Given the description of an element on the screen output the (x, y) to click on. 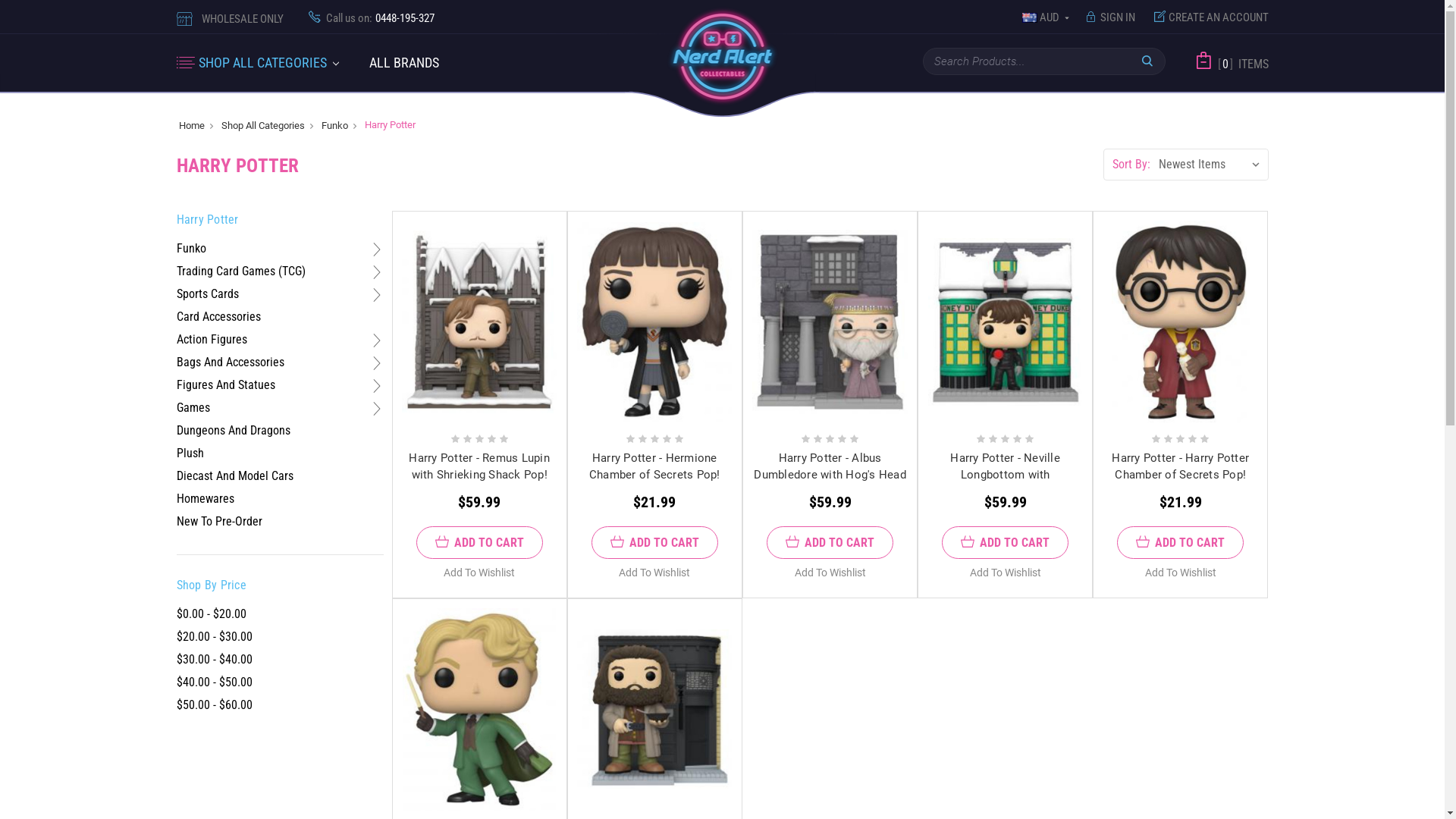
Diecast And Model Cars Element type: text (233, 475)
ALL BRANDS Element type: text (404, 63)
Homewares Element type: text (204, 498)
Figures And Statues Element type: text (224, 384)
$0.00 - $20.00 Element type: text (279, 613)
Add To Wishlist Element type: text (478, 572)
SHOP ALL CATEGORIES Element type: text (276, 63)
$50.00 - $60.00 Element type: text (279, 704)
Harry Potter - Harry Potter Chamber of Secrets Pop! Vinyl Element type: text (1179, 474)
Action Figures Element type: text (210, 339)
WHOLESALE ONLY Element type: text (242, 18)
$30.00 - $40.00 Element type: text (279, 659)
Dungeons And Dragons Element type: text (232, 430)
Harry Potter - Hermione Chamber of Secrets Pop! Vinyl Element type: text (654, 474)
Nerd Alert Collectables Element type: hover (721, 56)
Add To Wishlist Element type: text (1180, 572)
ADD TO CART Element type: text (479, 542)
Games Element type: text (192, 407)
ADD TO CART Element type: text (654, 542)
Add To Wishlist Element type: text (830, 572)
Card Accessories Element type: text (217, 316)
New To Pre-Order Element type: text (218, 521)
Harry Potter - Harry Potter Chamber of Secrets Pop! Vinyl Element type: hover (1180, 321)
AUD Element type: text (1045, 17)
$20.00 - $30.00 Element type: text (279, 636)
Funko Element type: text (334, 124)
0 ITEMS Element type: text (1239, 64)
Add To Wishlist Element type: text (1005, 572)
Funko Element type: text (190, 248)
Search Element type: text (1147, 60)
ADD TO CART Element type: text (829, 542)
ADD TO CART Element type: text (1004, 542)
Harry Potter - Remus Lupin with Shrieking Shack Pop! Deluxe Element type: text (478, 474)
Home Element type: text (191, 124)
ADD TO CART Element type: text (1180, 542)
CREATE AN ACCOUNT Element type: text (1206, 17)
Plush Element type: text (189, 453)
SIGN IN Element type: text (1110, 17)
0448-195-327 Element type: text (403, 18)
Trading Card Games (TCG) Element type: text (239, 271)
Bags And Accessories Element type: text (229, 362)
Shop All Categories Element type: text (262, 124)
Add To Wishlist Element type: text (654, 572)
$40.00 - $50.00 Element type: text (279, 682)
Sports Cards Element type: text (206, 293)
